Given the description of an element on the screen output the (x, y) to click on. 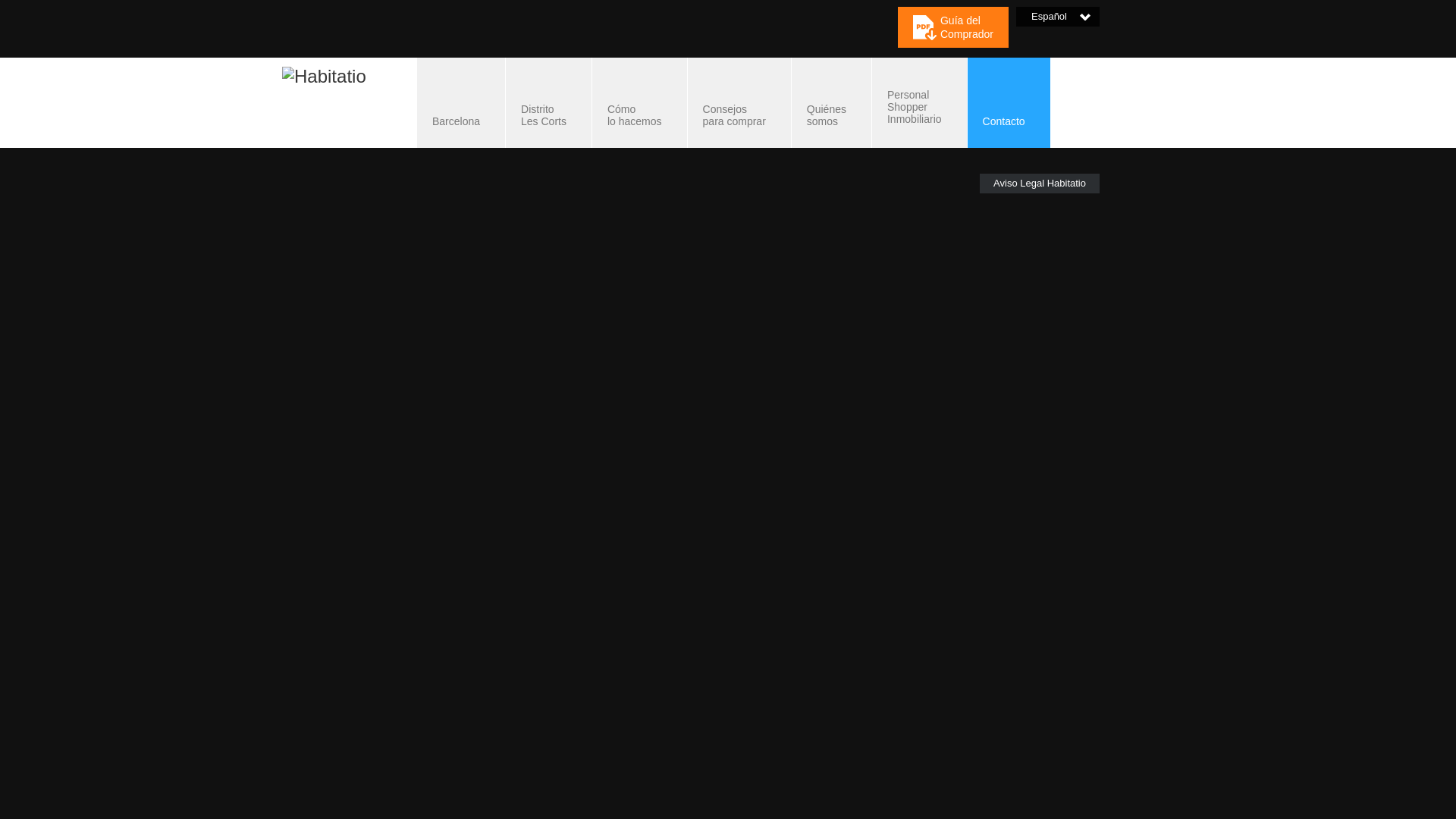
Inmobiliaria en Barcelona (548, 102)
Contacto (460, 102)
Aviso Legal Habitatio (1008, 102)
Habitatio (1039, 183)
Barcelona (919, 102)
Personal Shopper Inmobiliario Les Corts (738, 102)
